Given the description of an element on the screen output the (x, y) to click on. 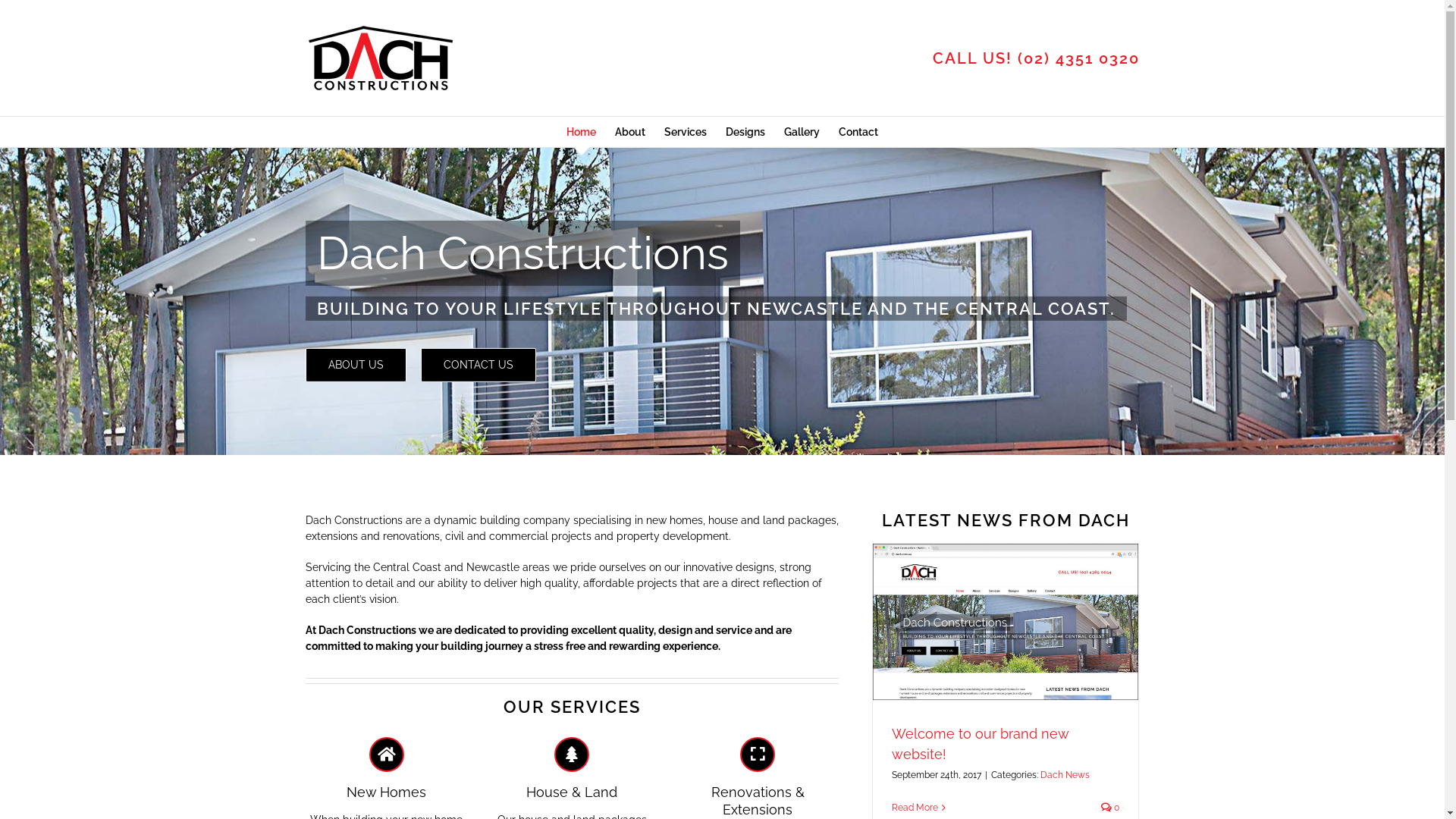
Gallery Element type: text (801, 131)
Services Element type: text (685, 131)
 0 Element type: text (1110, 807)
Renovations & Extensions Element type: text (757, 777)
Contact Element type: text (858, 131)
Dach News Element type: text (1064, 774)
Welcome to our brand new website! Element type: text (979, 743)
Designs Element type: text (745, 131)
(02) 4351 0320 Element type: text (1078, 57)
New Homes Element type: text (385, 768)
About Element type: text (630, 131)
Home Element type: text (581, 131)
CONTACT US Element type: text (477, 365)
House & Land Element type: text (571, 768)
ABOUT US Element type: text (354, 365)
Read More Element type: text (914, 807)
